Given the description of an element on the screen output the (x, y) to click on. 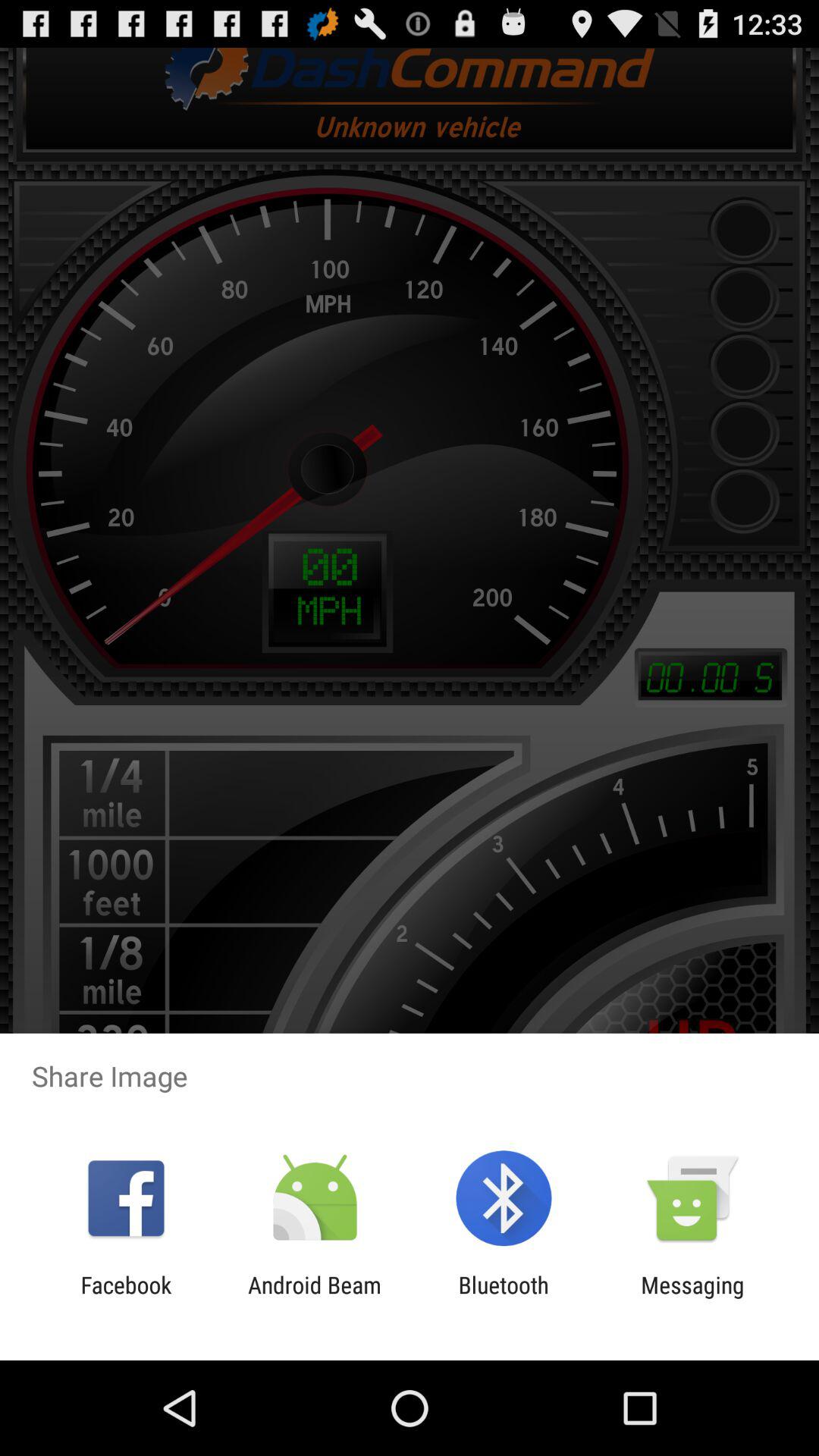
press bluetooth item (503, 1298)
